Given the description of an element on the screen output the (x, y) to click on. 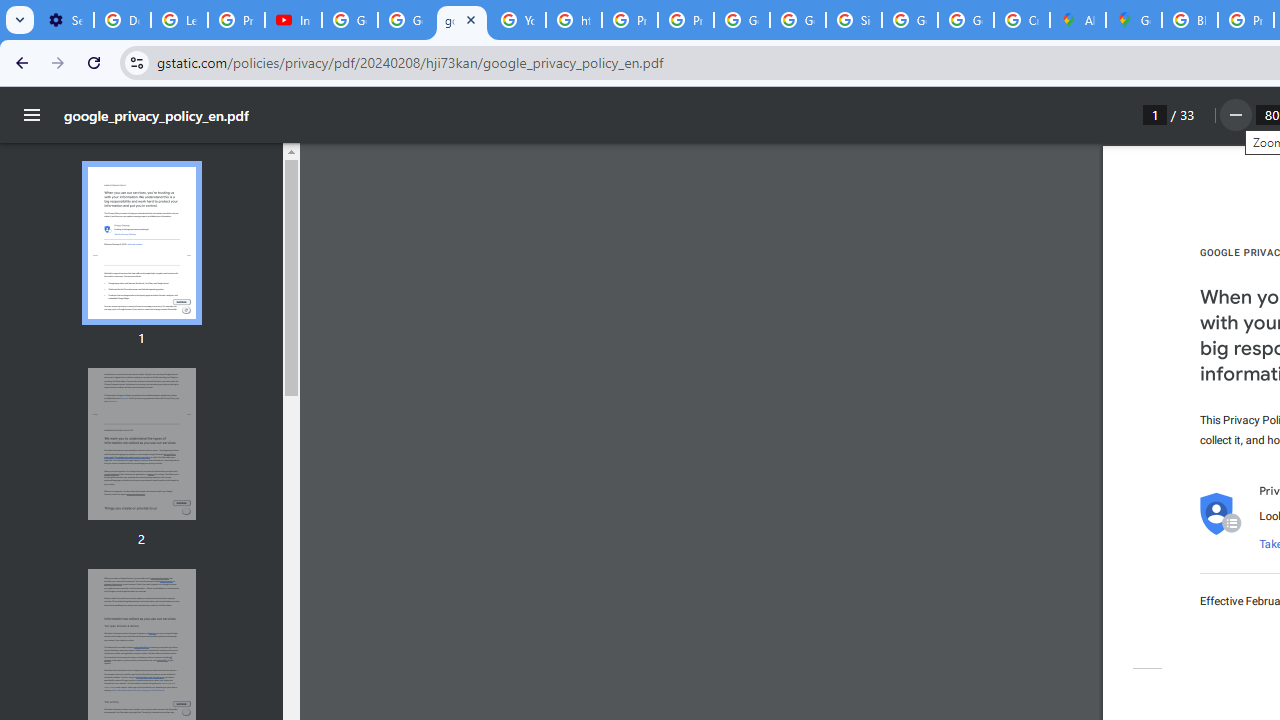
Sign in - Google Accounts (853, 20)
Zoom out (1234, 115)
